Given the description of an element on the screen output the (x, y) to click on. 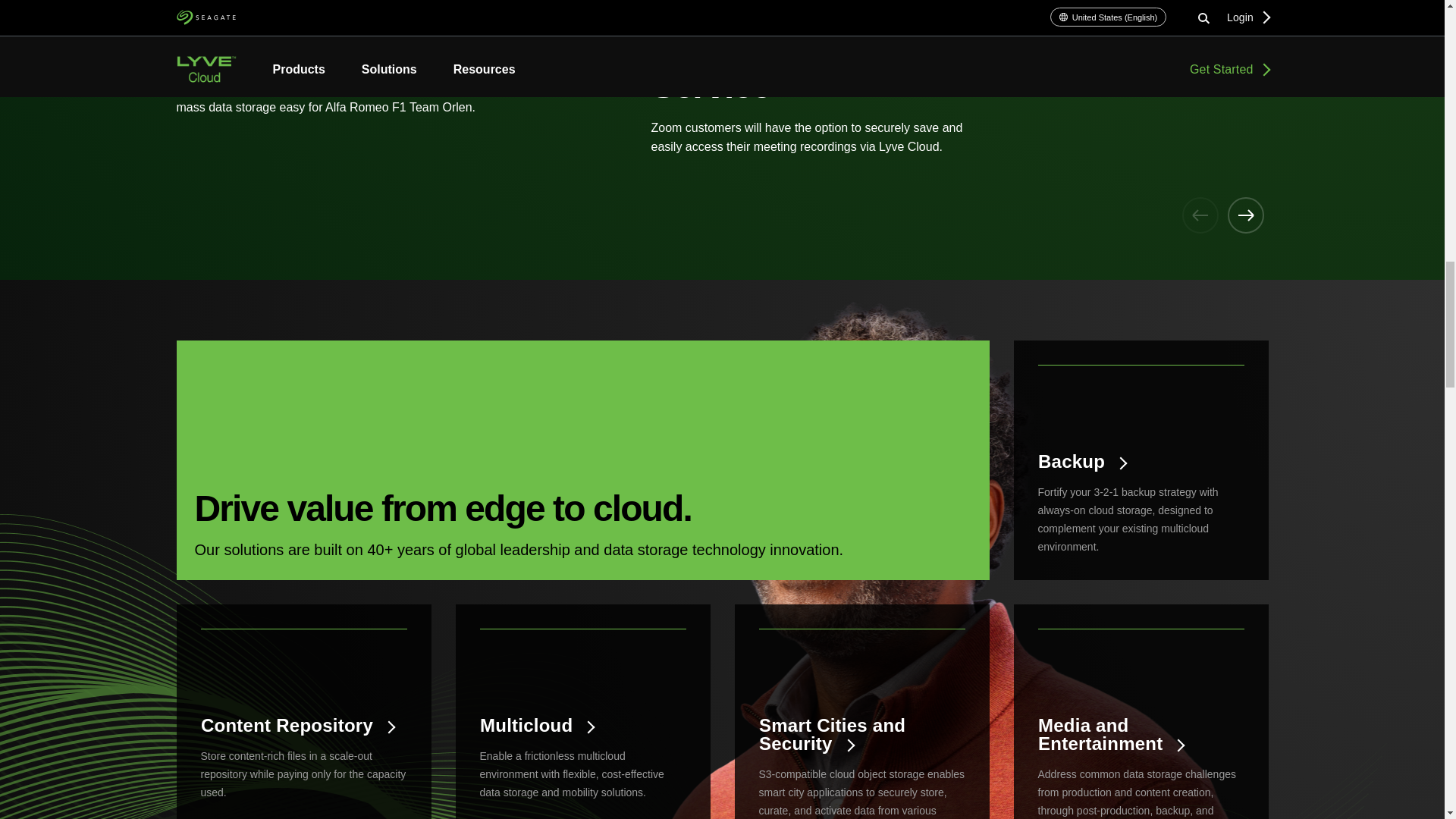
Zoom Selects Lyve Cloud for S3 Storage as a Service (868, 78)
Backup (1139, 461)
Alfa Romeo F1 Team ORLEN Case Study (394, 58)
Media and Entertainment  (1139, 734)
Smart Cities and Security  (860, 734)
Content Repository (303, 725)
Multicloud  (582, 725)
